Given the description of an element on the screen output the (x, y) to click on. 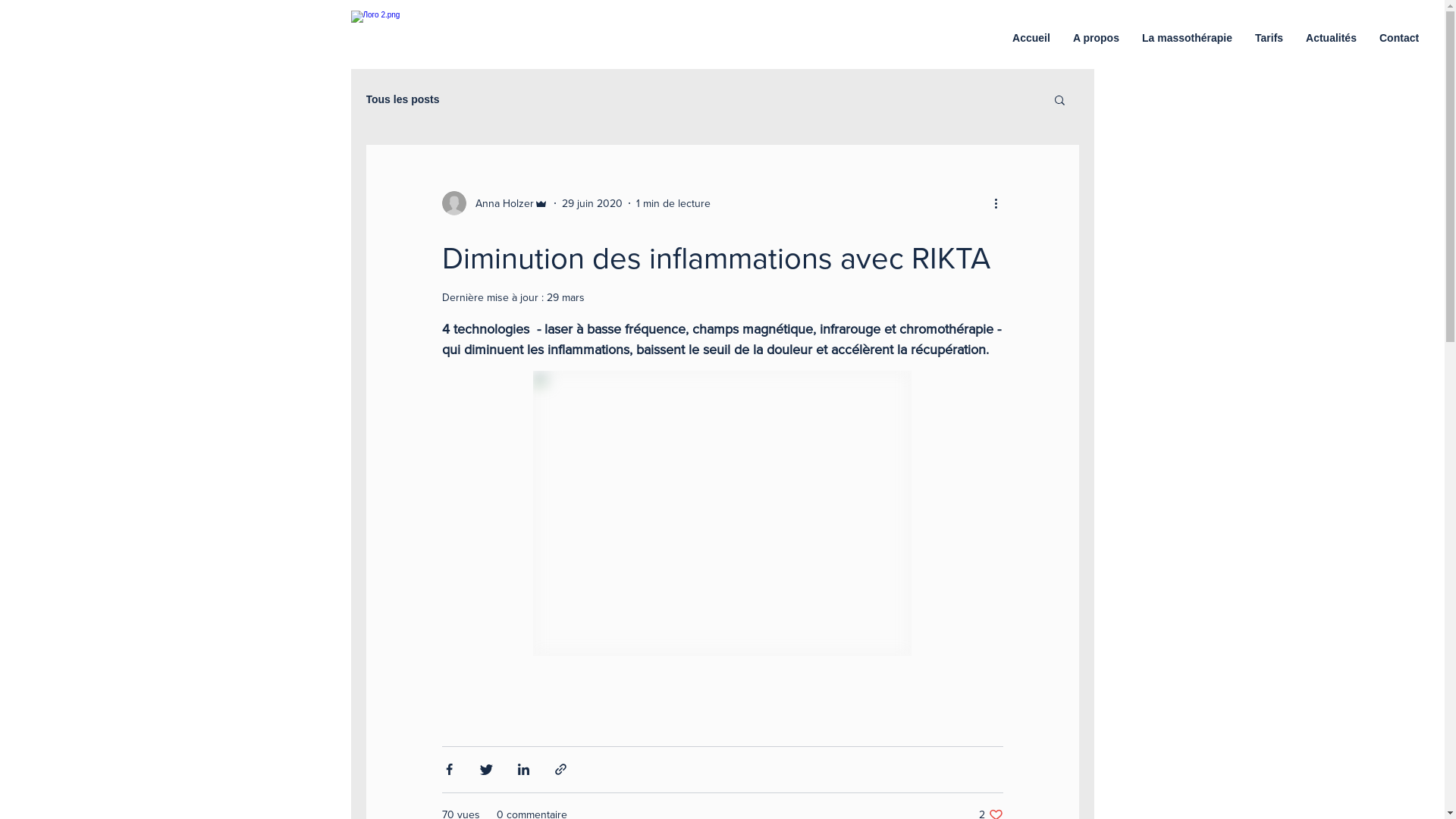
A propos Element type: text (1095, 37)
Tarifs Element type: text (1268, 37)
Tous les posts Element type: text (402, 99)
Contact Element type: text (1399, 37)
Accueil Element type: text (1031, 37)
